Given the description of an element on the screen output the (x, y) to click on. 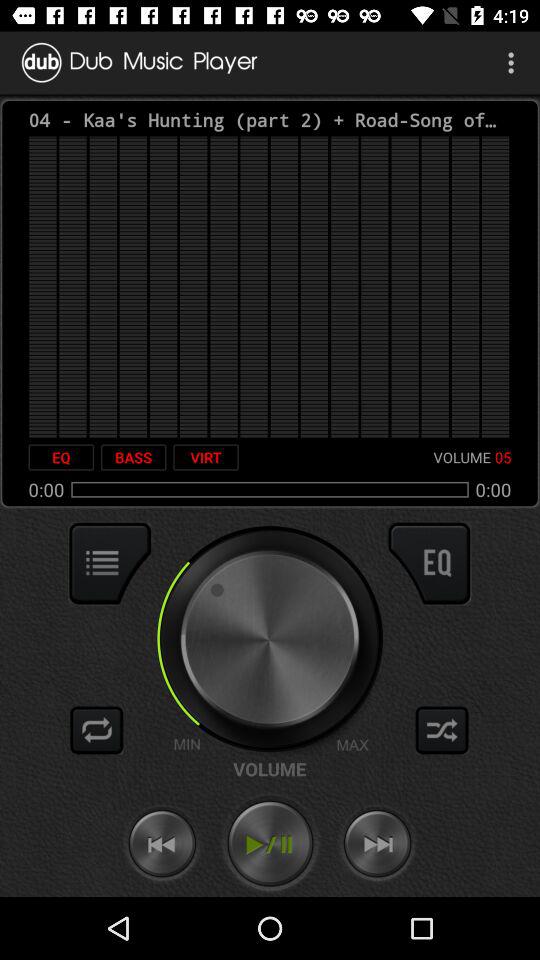
turn off icon to the left of the  bass  item (61, 457)
